Given the description of an element on the screen output the (x, y) to click on. 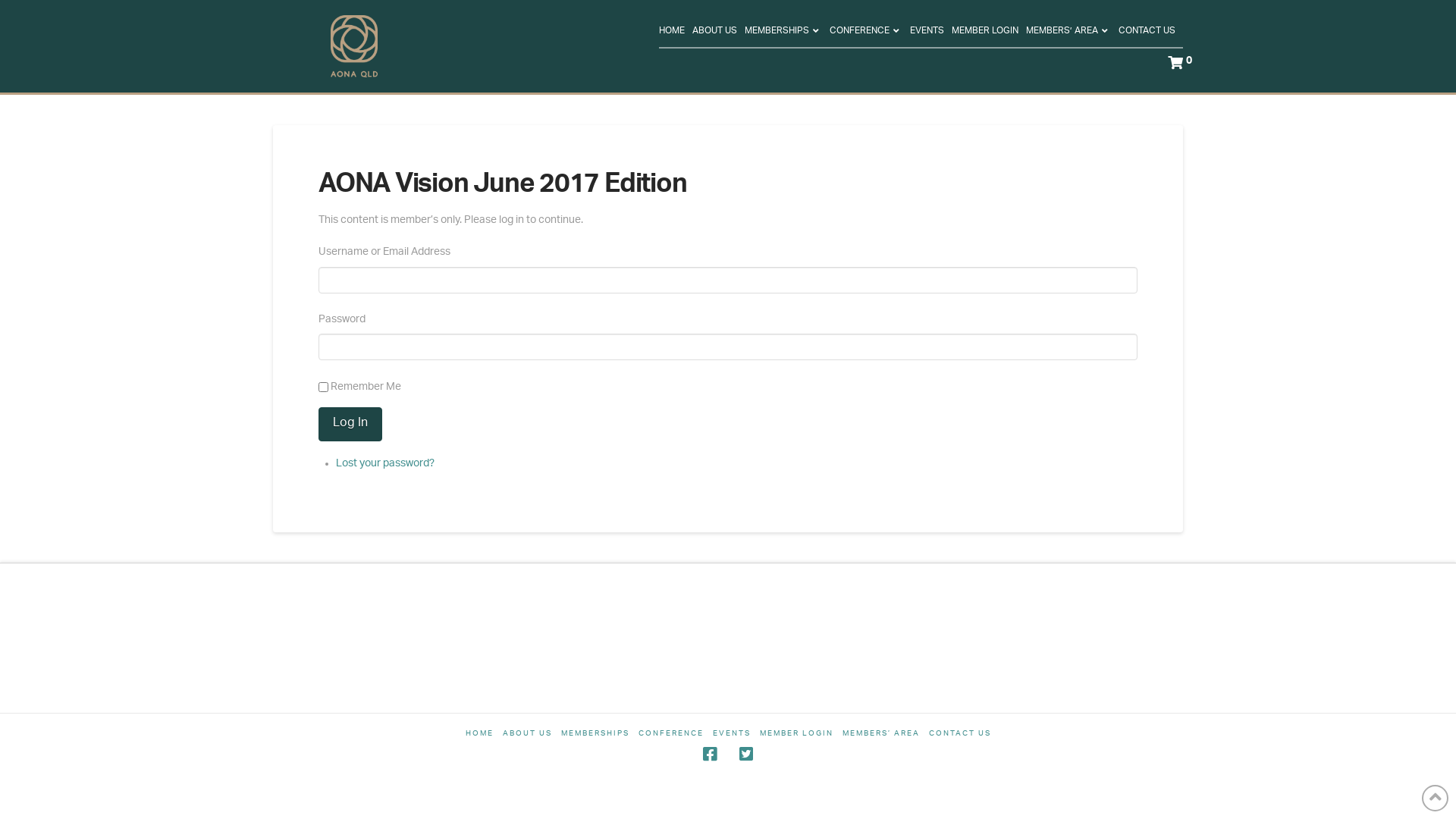
ABOUT US Element type: text (718, 30)
Lost your password? Element type: text (384, 463)
MEMBERSHIPS Element type: text (595, 733)
CONTACT US Element type: text (959, 733)
EVENTS Element type: text (930, 30)
MEMBER LOGIN Element type: text (796, 733)
HOME Element type: text (675, 30)
Back to Top Element type: hover (1434, 797)
CONFERENCE Element type: text (869, 30)
Log In Element type: text (350, 424)
Facebook Element type: hover (709, 754)
ABOUT US Element type: text (526, 733)
MEMBERSHIPS Element type: text (786, 30)
CONFERENCE Element type: text (670, 733)
MEMBER LOGIN Element type: text (988, 30)
EVENTS Element type: text (731, 733)
Twitter Element type: hover (746, 754)
HOME Element type: text (479, 733)
CONTACT US Element type: text (1150, 30)
